Given the description of an element on the screen output the (x, y) to click on. 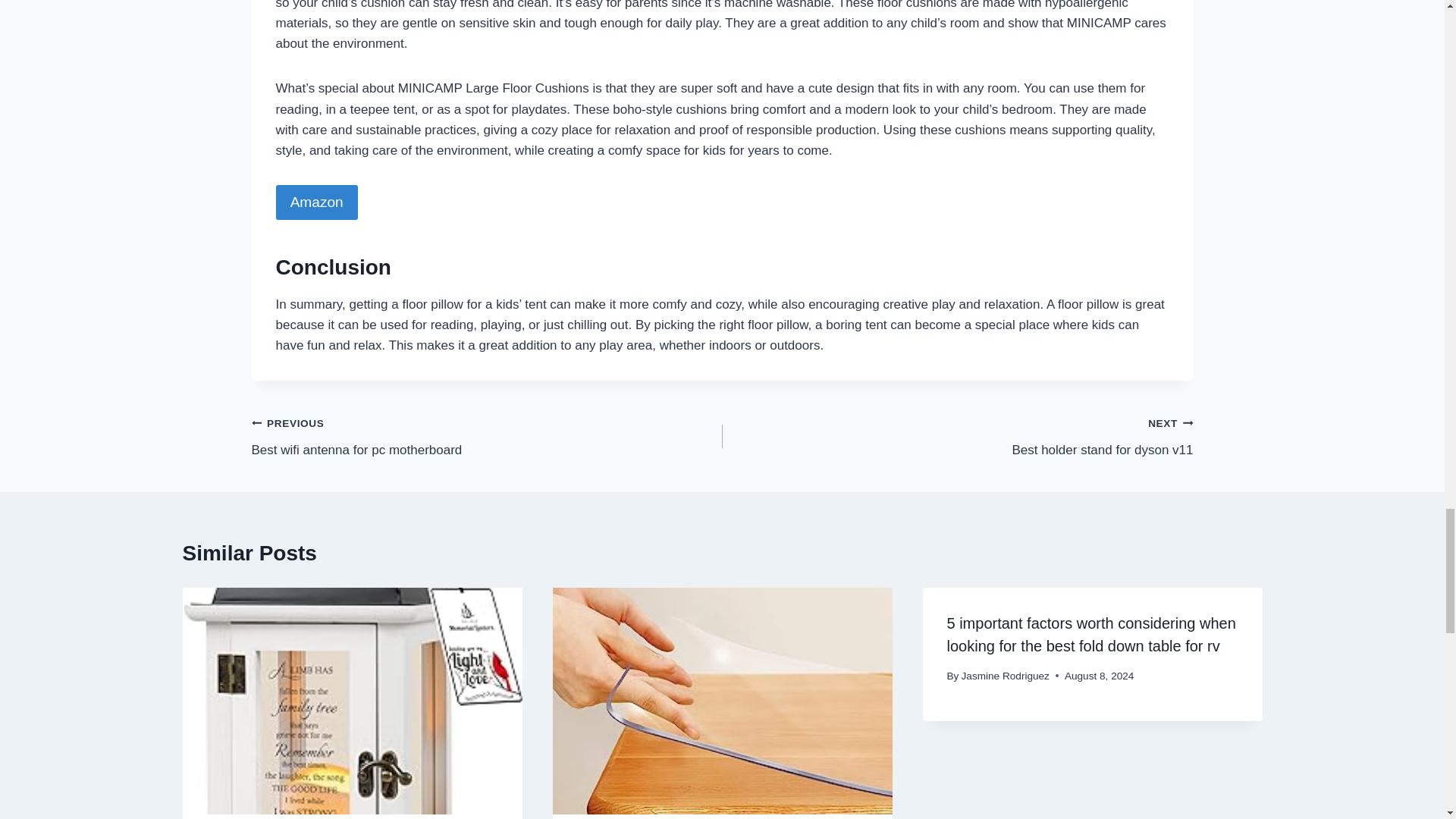
Amazon (957, 436)
